Given the description of an element on the screen output the (x, y) to click on. 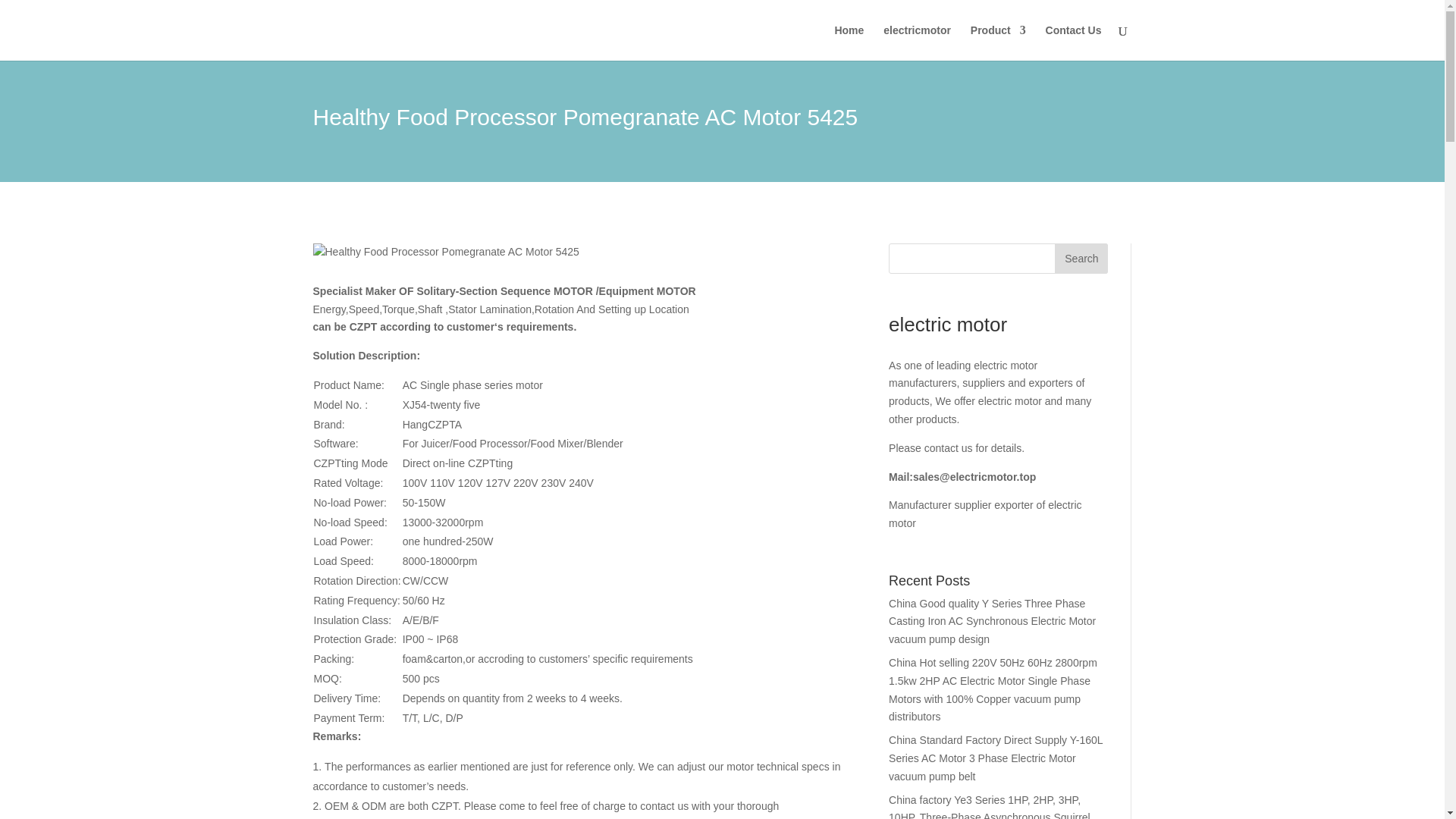
electricmotor (916, 42)
Product (998, 42)
Search (1081, 258)
Search (1081, 258)
Contact Us (1073, 42)
Healthy Food Processor Pomegranate AC Motor 5425 (445, 252)
